Given the description of an element on the screen output the (x, y) to click on. 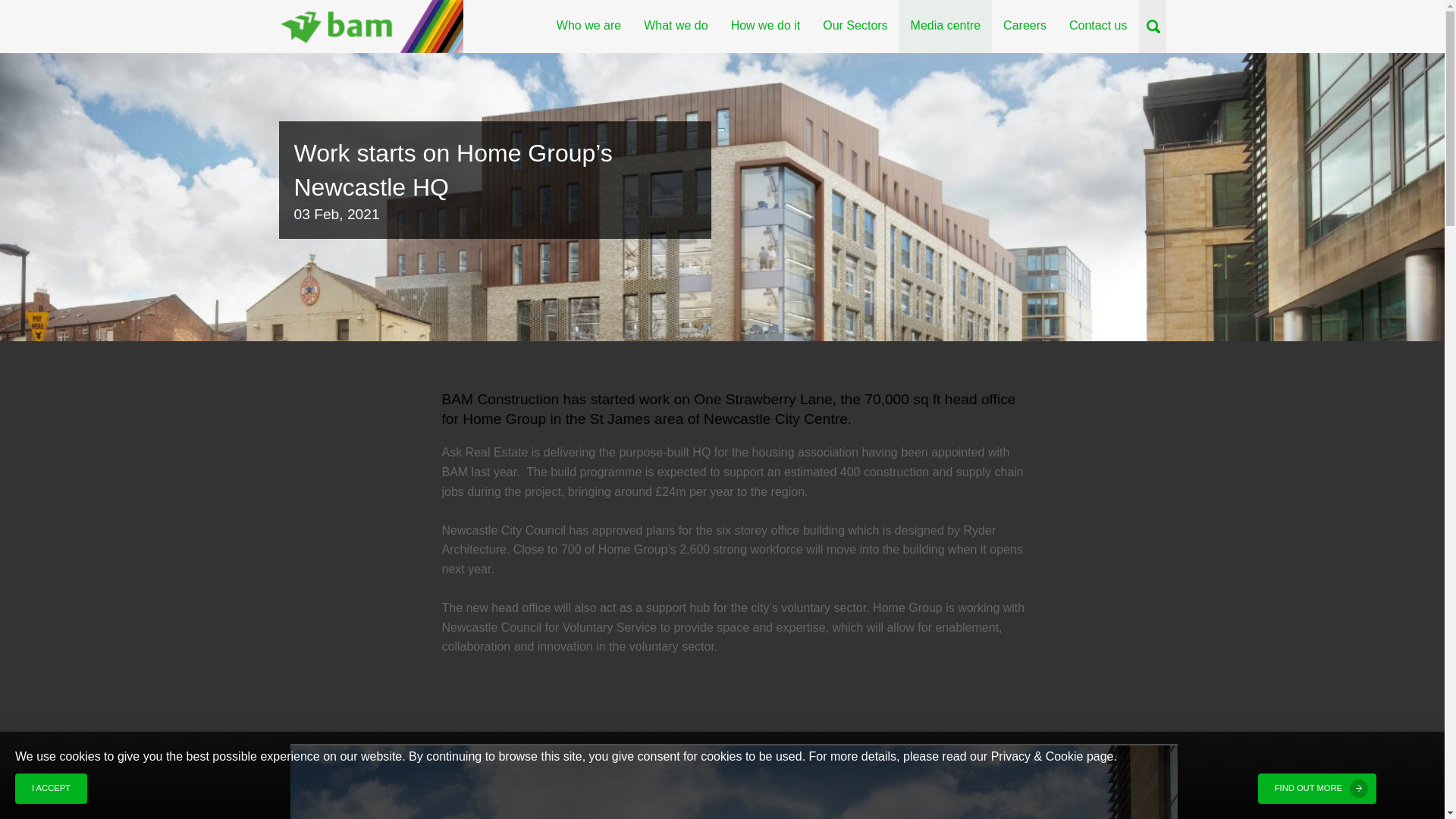
Our Sectors (854, 26)
BAM (371, 26)
How we do it (765, 26)
Media centre (945, 26)
What we do (675, 26)
Contact us (1098, 26)
Who we are (587, 26)
Careers (1024, 26)
